Given the description of an element on the screen output the (x, y) to click on. 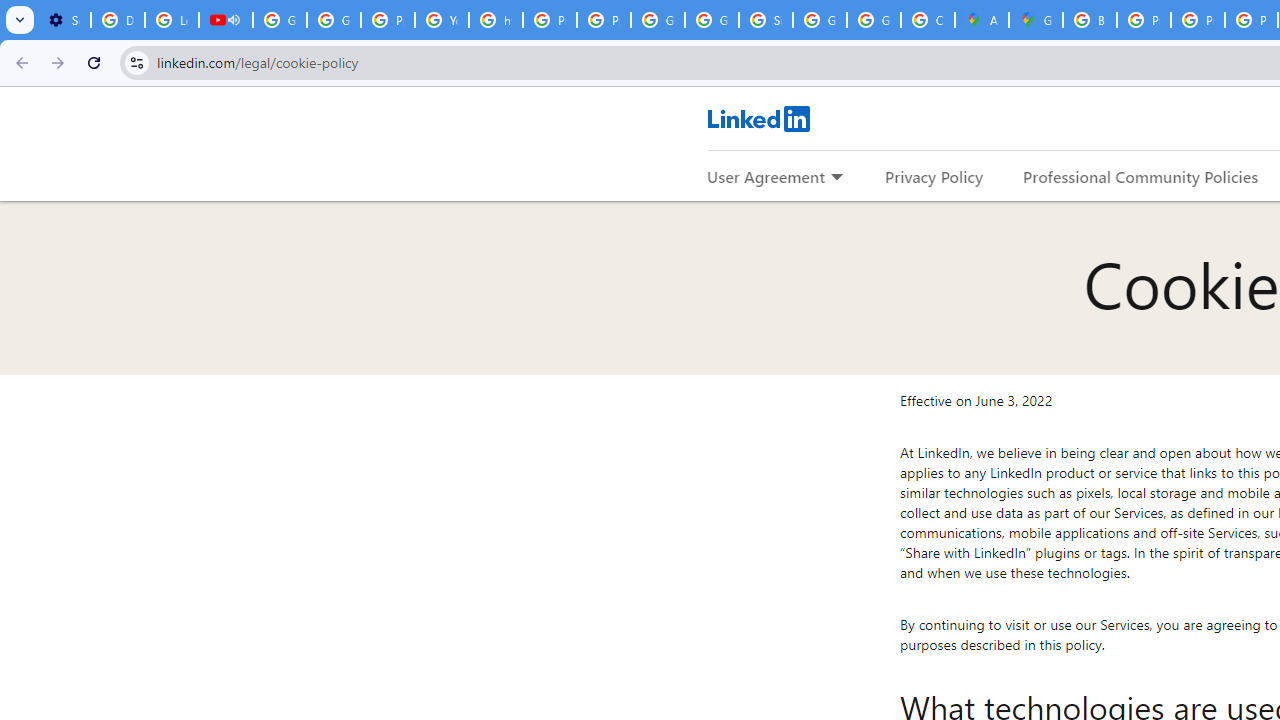
Privacy Help Center - Policies Help (550, 20)
Sign in - Google Accounts (765, 20)
Privacy Help Center - Policies Help (387, 20)
